Given the description of an element on the screen output the (x, y) to click on. 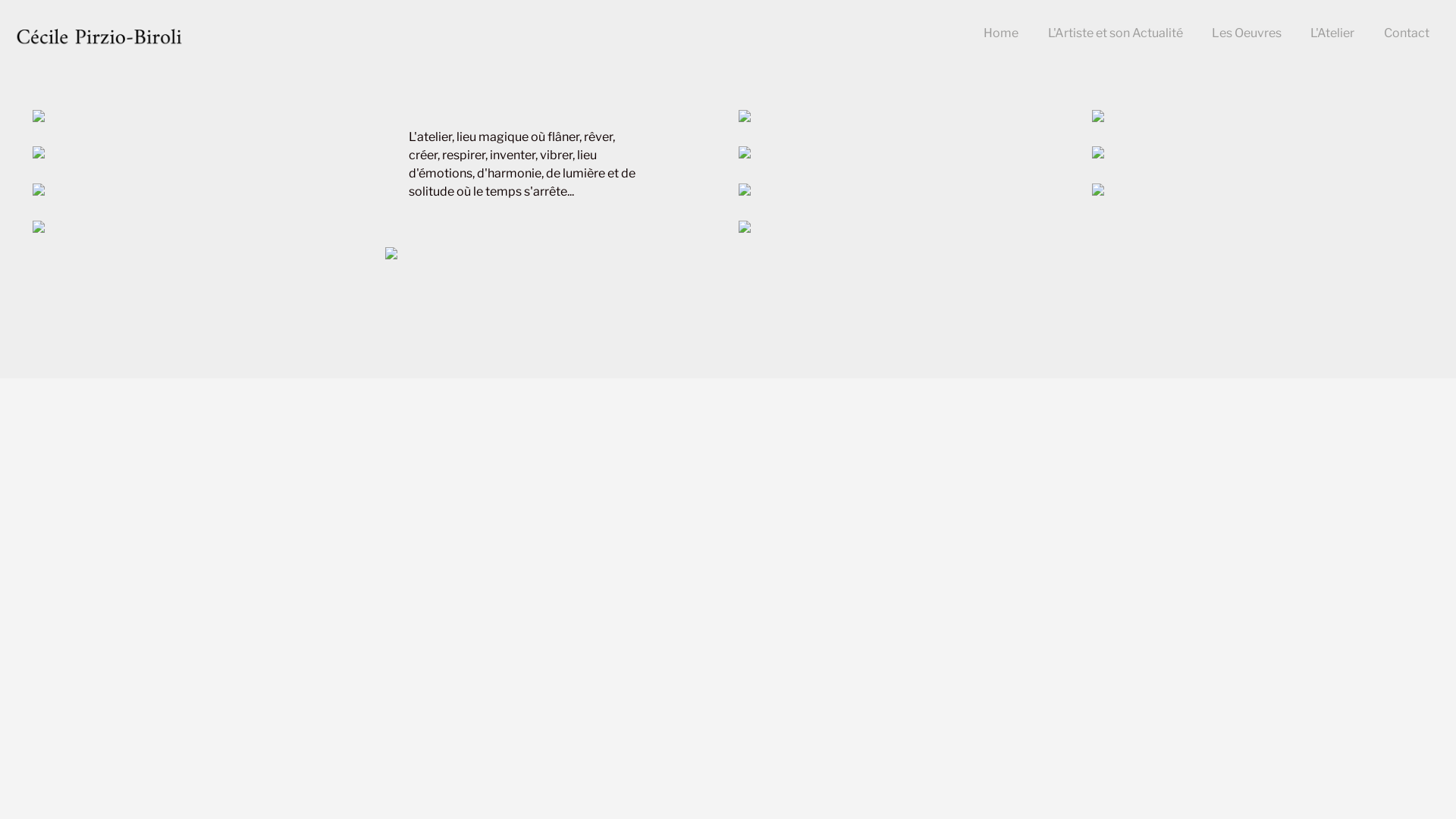
Home Element type: text (1000, 33)
Les Oeuvres Element type: text (1246, 33)
L'Atelier Element type: text (1331, 33)
Contact Element type: text (1406, 33)
